Given the description of an element on the screen output the (x, y) to click on. 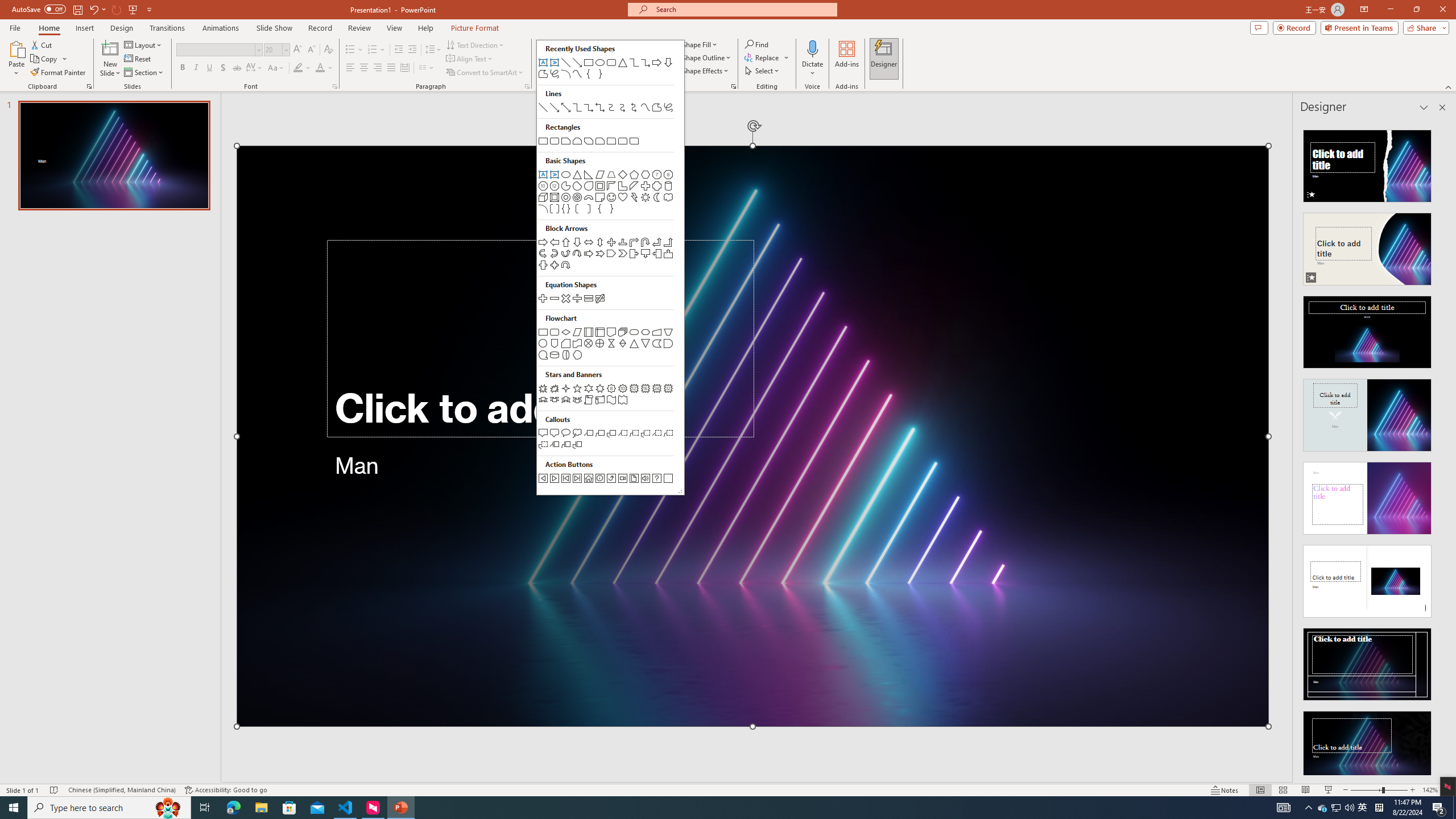
Strikethrough (237, 67)
Close pane (1441, 107)
Design (122, 28)
Help (425, 28)
Dictate (812, 58)
AutoSave (38, 9)
Microsoft search (742, 9)
Undo (96, 9)
Font Color Red (320, 67)
PowerPoint - 1 running window (400, 807)
Text Direction (476, 44)
Zoom (1379, 790)
Replace... (767, 56)
